Given the description of an element on the screen output the (x, y) to click on. 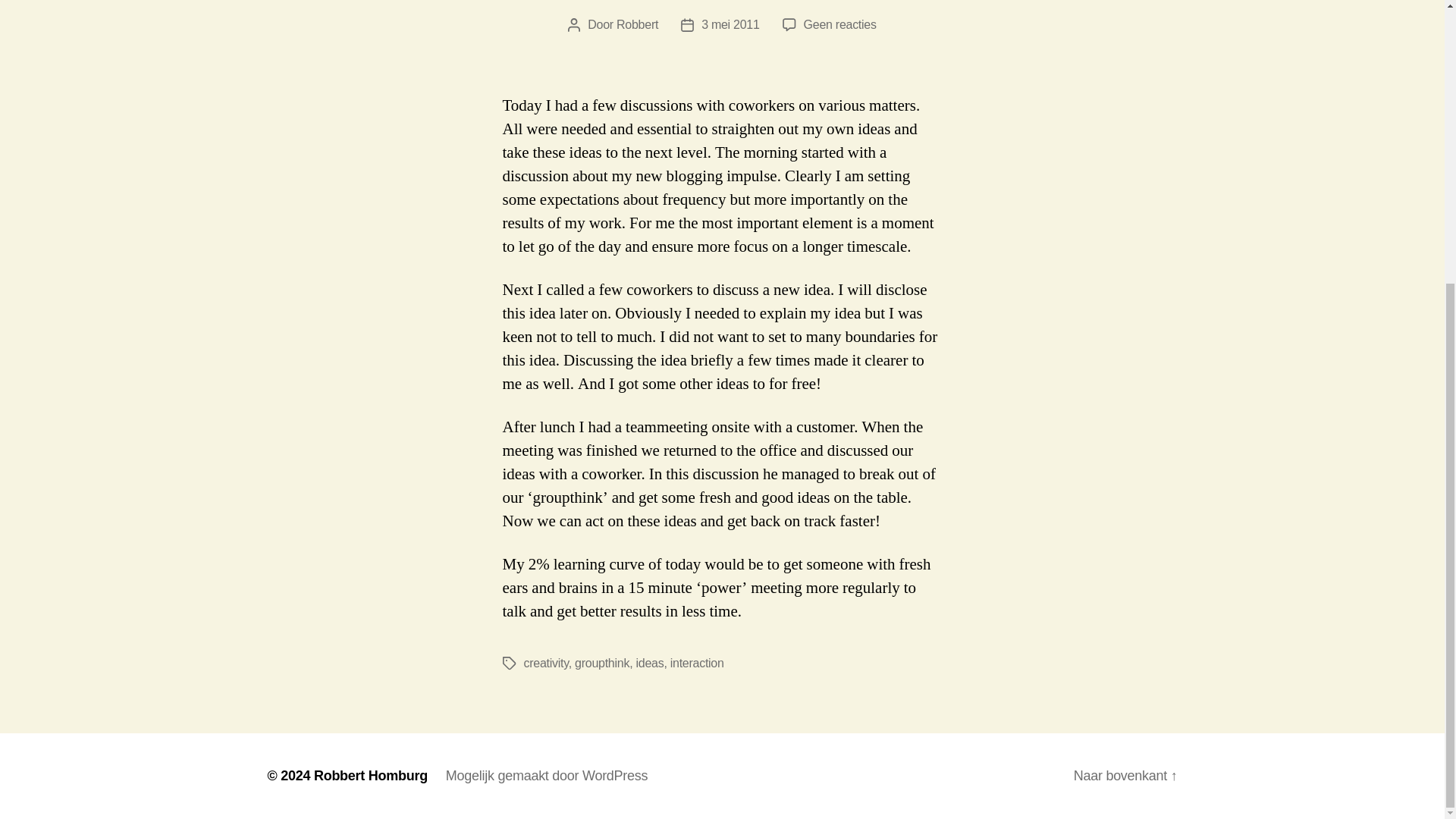
3 mei 2011 (729, 24)
Mogelijk gemaakt door WordPress (546, 775)
Robbert (636, 24)
Robbert Homburg (371, 775)
groupthink (839, 24)
ideas (601, 662)
interaction (648, 662)
creativity (696, 662)
